Given the description of an element on the screen output the (x, y) to click on. 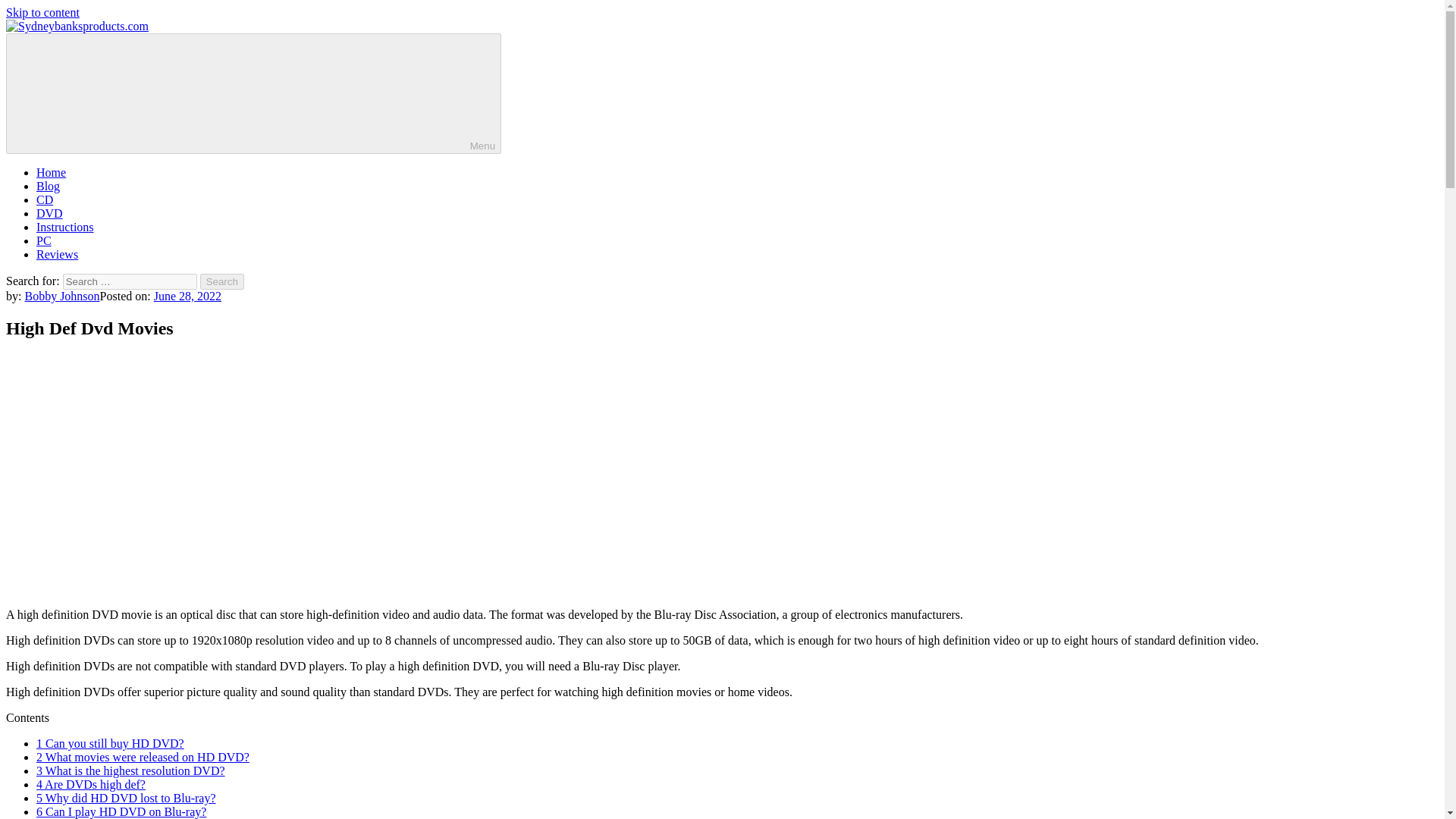
June 28, 2022 (187, 295)
Instructions (65, 226)
Search (222, 281)
Blog (47, 185)
Reviews (57, 254)
Sydneybanksproducts.com (70, 51)
3 What is the highest resolution DVD? (130, 770)
Search (222, 281)
Bobby Johnson (61, 295)
DVD (49, 213)
4 Are DVDs high def? (90, 784)
1 Can you still buy HD DVD? (110, 743)
5 Why did HD DVD lost to Blu-ray? (125, 797)
Skip to content (42, 11)
6 Can I play HD DVD on Blu-ray? (121, 811)
